Given the description of an element on the screen output the (x, y) to click on. 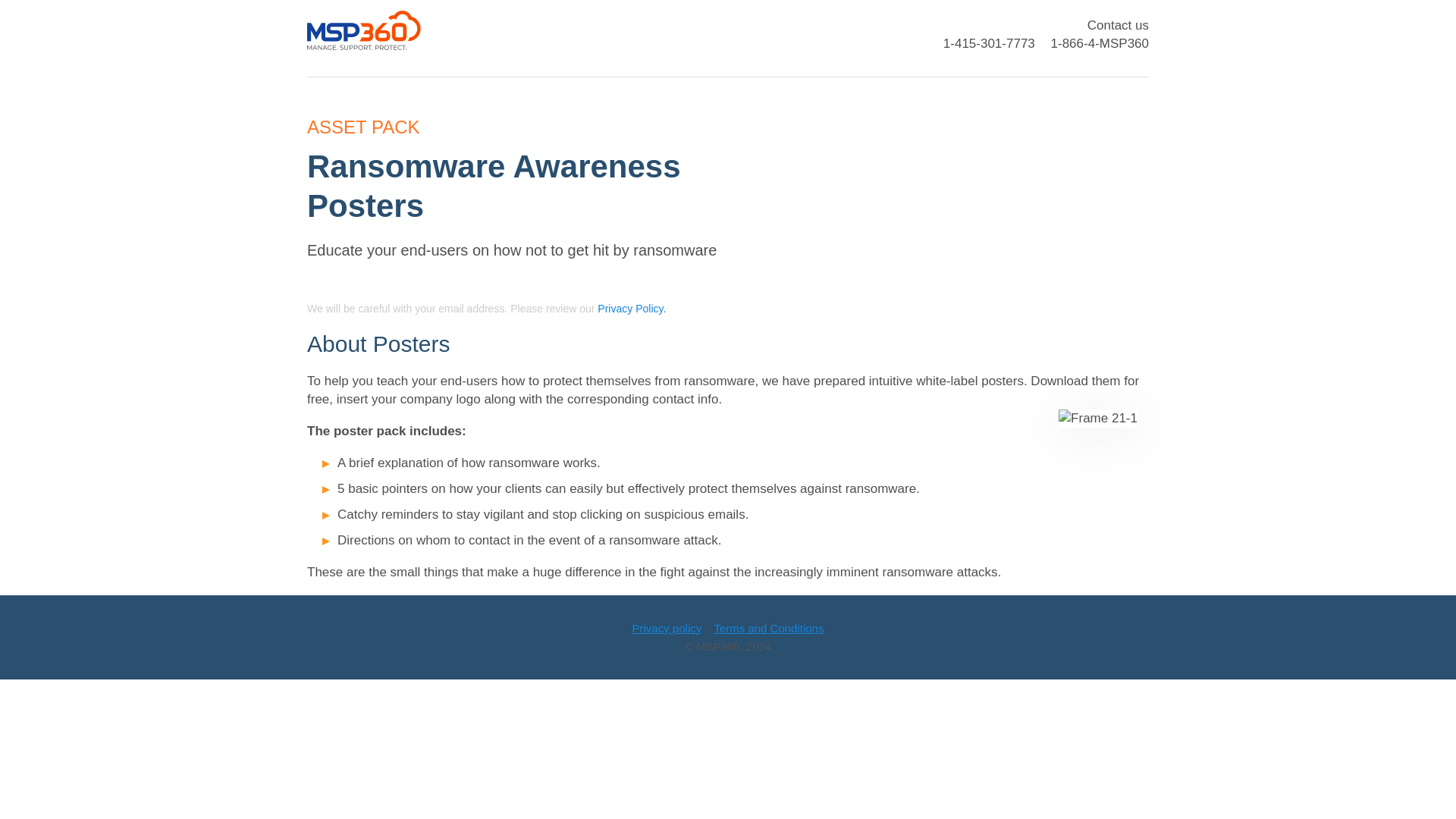
Privacy Policy. (630, 308)
Privacy policy (666, 627)
Terms and Conditions (768, 627)
